Given the description of an element on the screen output the (x, y) to click on. 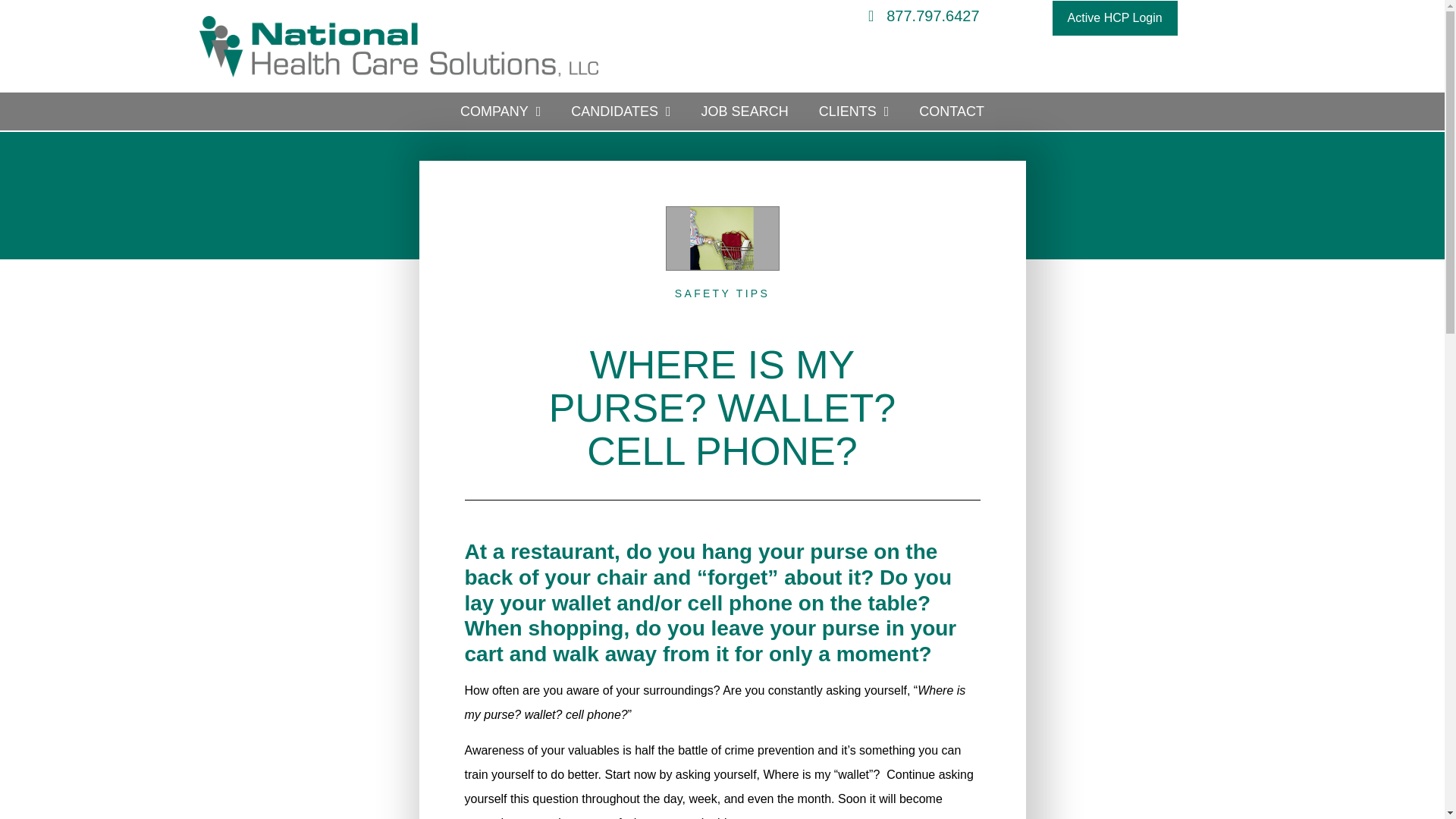
National Health Care Solutions Logo (398, 45)
COMPANY (500, 111)
Active HCP Login (1114, 18)
877.797.6427 (791, 15)
